Given the description of an element on the screen output the (x, y) to click on. 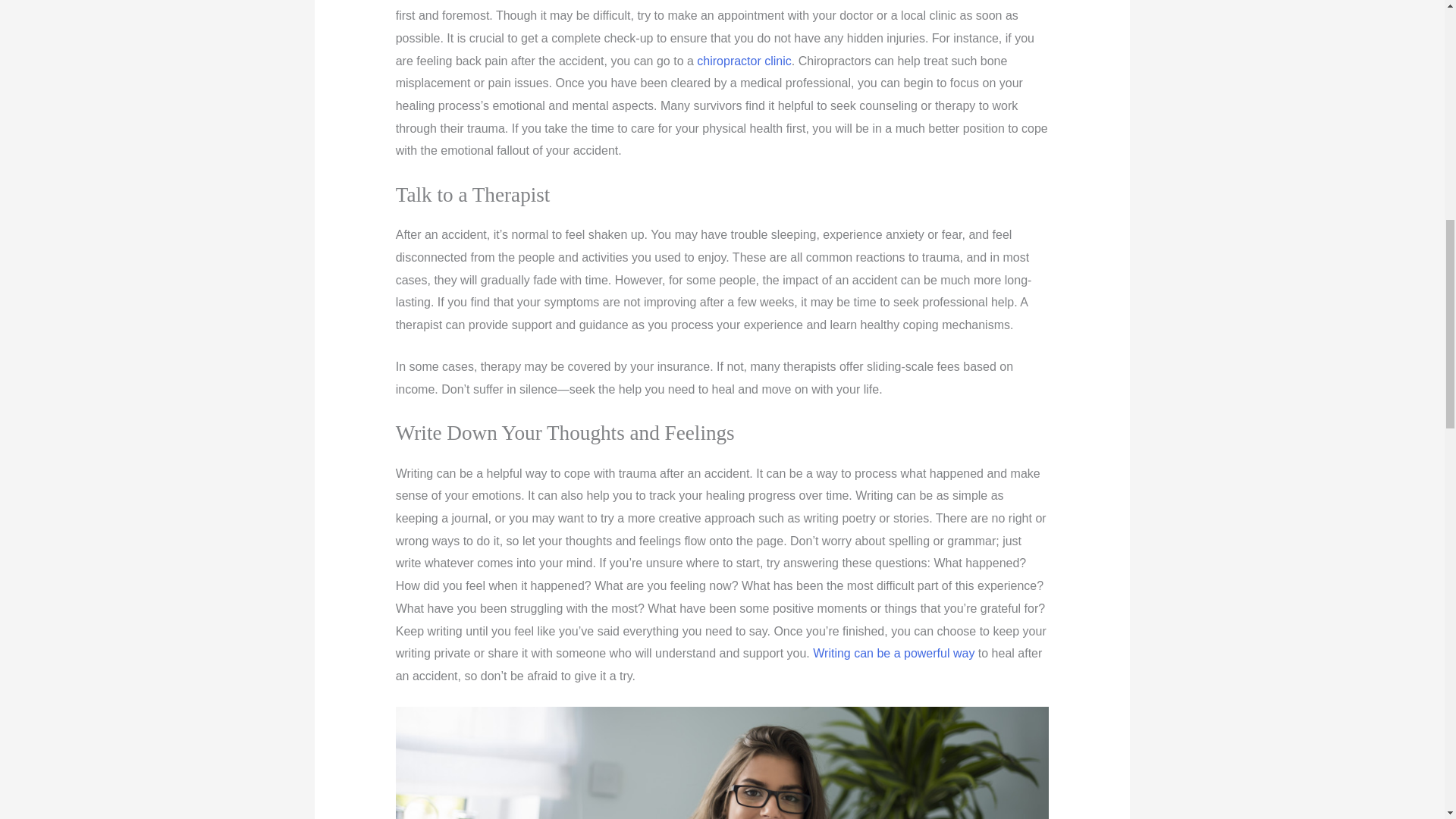
Writing can be a powerful way (893, 653)
Writing things (722, 762)
chiropractor clinic (743, 60)
